Given the description of an element on the screen output the (x, y) to click on. 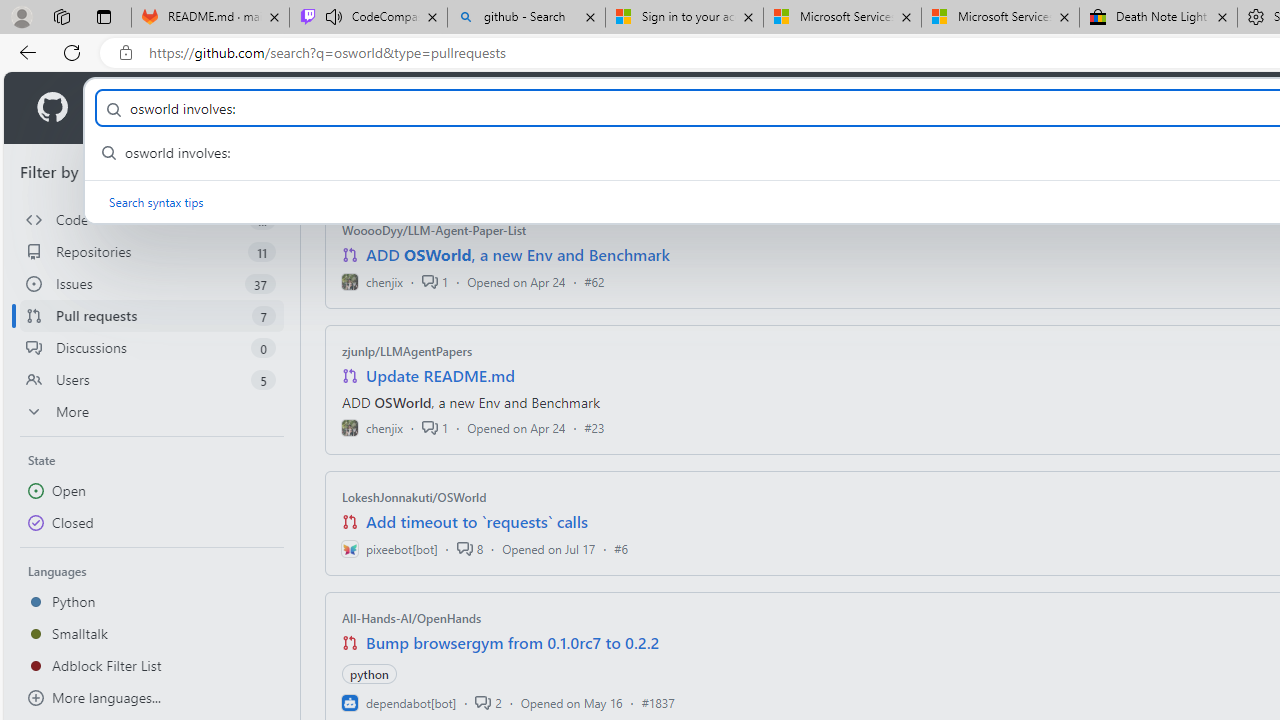
Bump browsergym from 0.1.0rc7 to 0.2.2 (513, 642)
Open Source (446, 107)
#6 (621, 548)
#1837 (657, 702)
Solutions (225, 107)
2 (487, 702)
Add timeout to `requests` calls (476, 521)
dependabot[bot] (398, 702)
ADD OSWorld, a new Env and Benchmark (517, 255)
pixeebot[bot] (389, 548)
Pricing (649, 107)
